Given the description of an element on the screen output the (x, y) to click on. 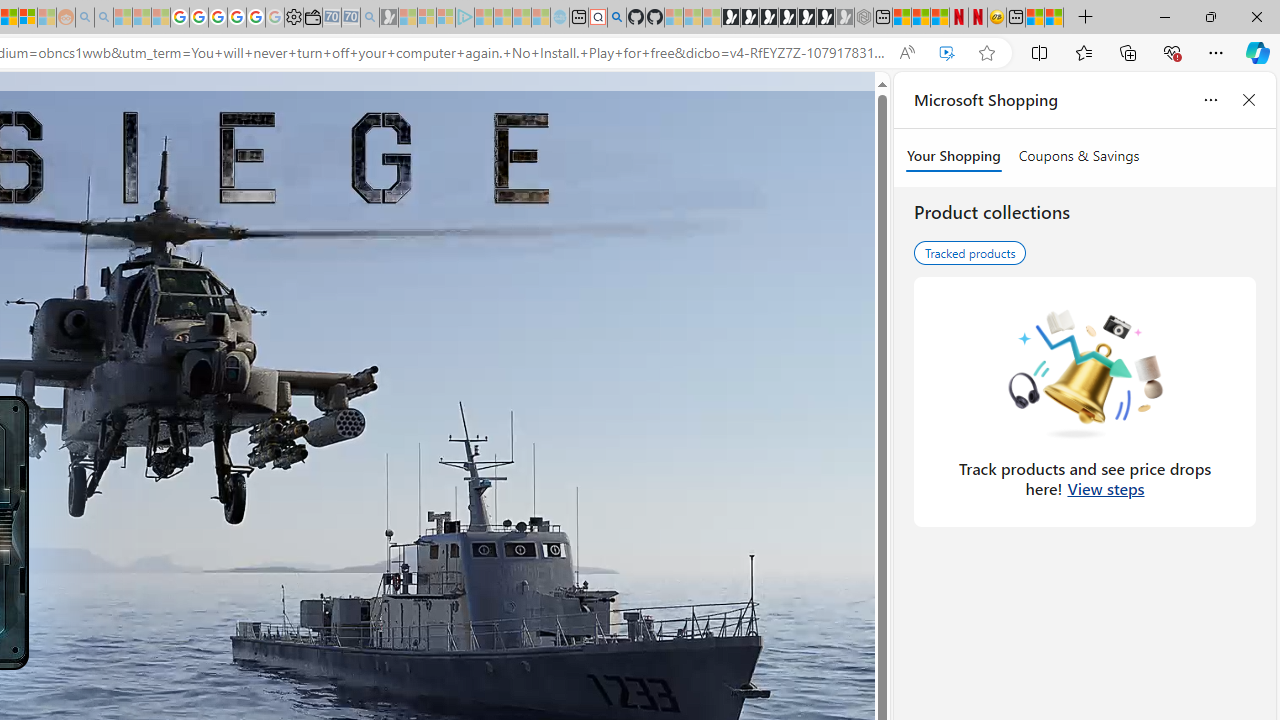
Enhance video (946, 53)
Play Free Online Games | Games from Microsoft Start (730, 17)
Utah sues federal government - Search - Sleeping (103, 17)
